Given the description of an element on the screen output the (x, y) to click on. 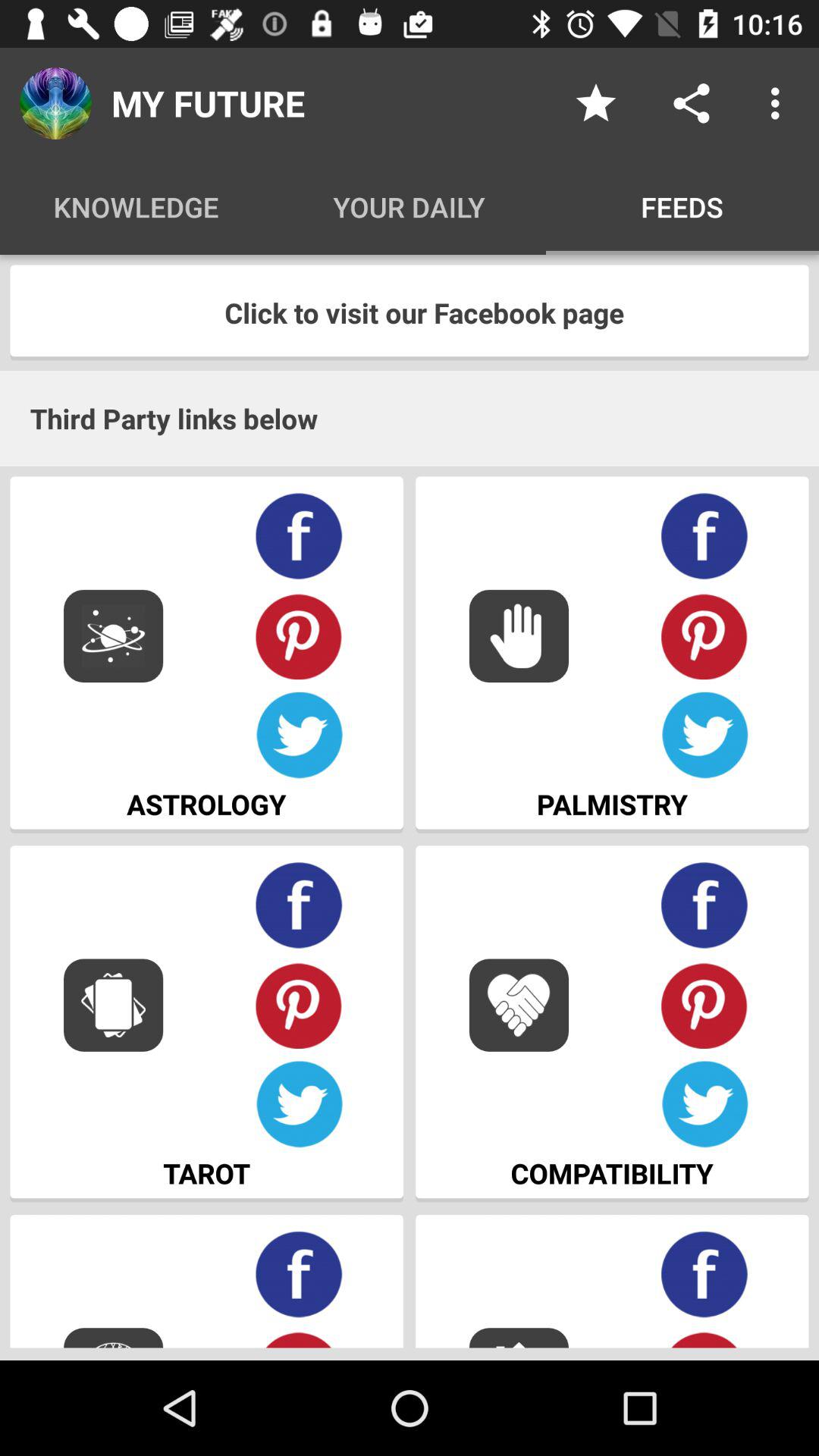
post to twitter (299, 735)
